Given the description of an element on the screen output the (x, y) to click on. 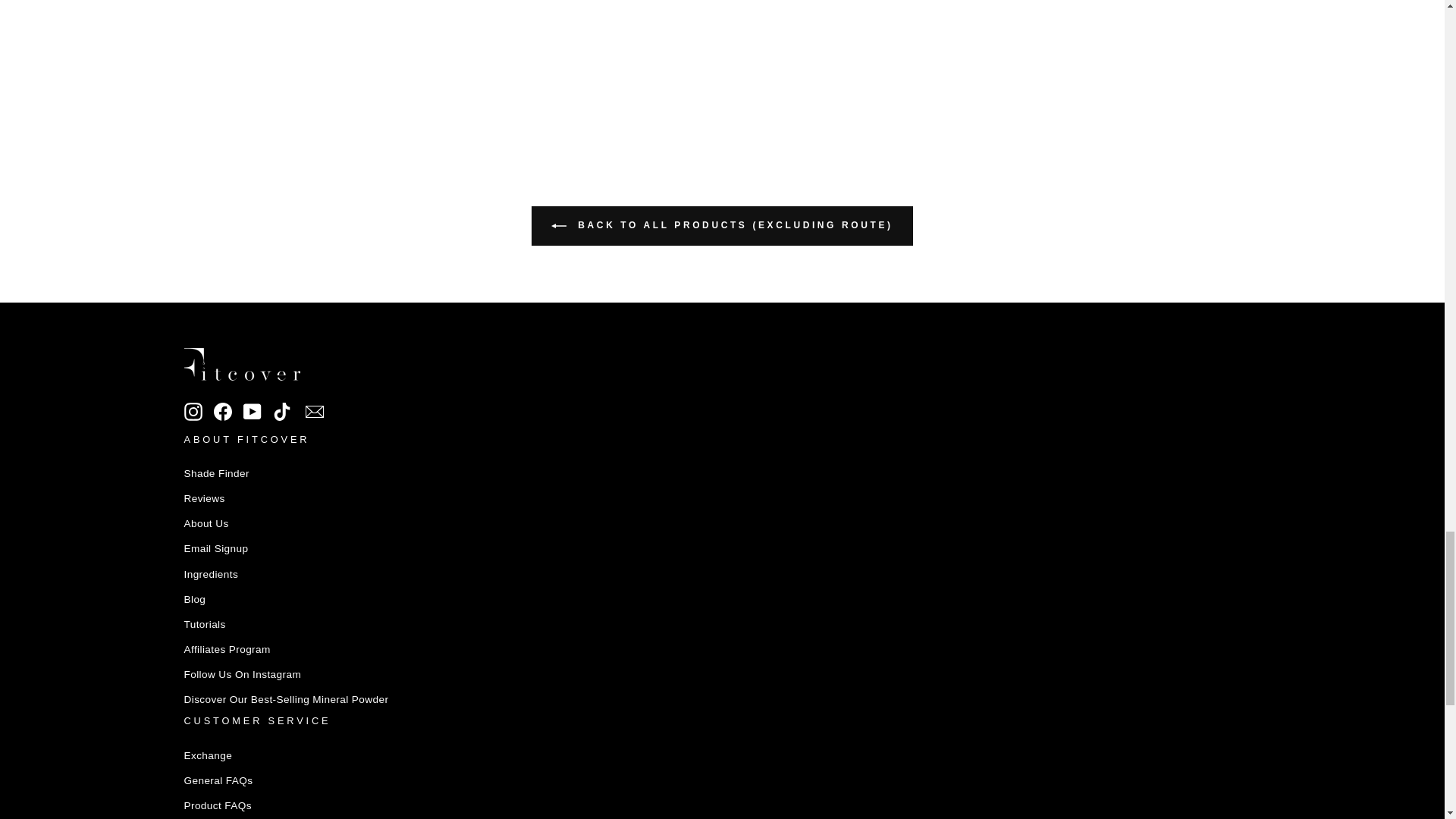
Fitcover on Facebook (222, 410)
Fitcover on TikTok (282, 410)
Fitcover on Instagram (192, 410)
Fitcover on YouTube (251, 410)
